Given the description of an element on the screen output the (x, y) to click on. 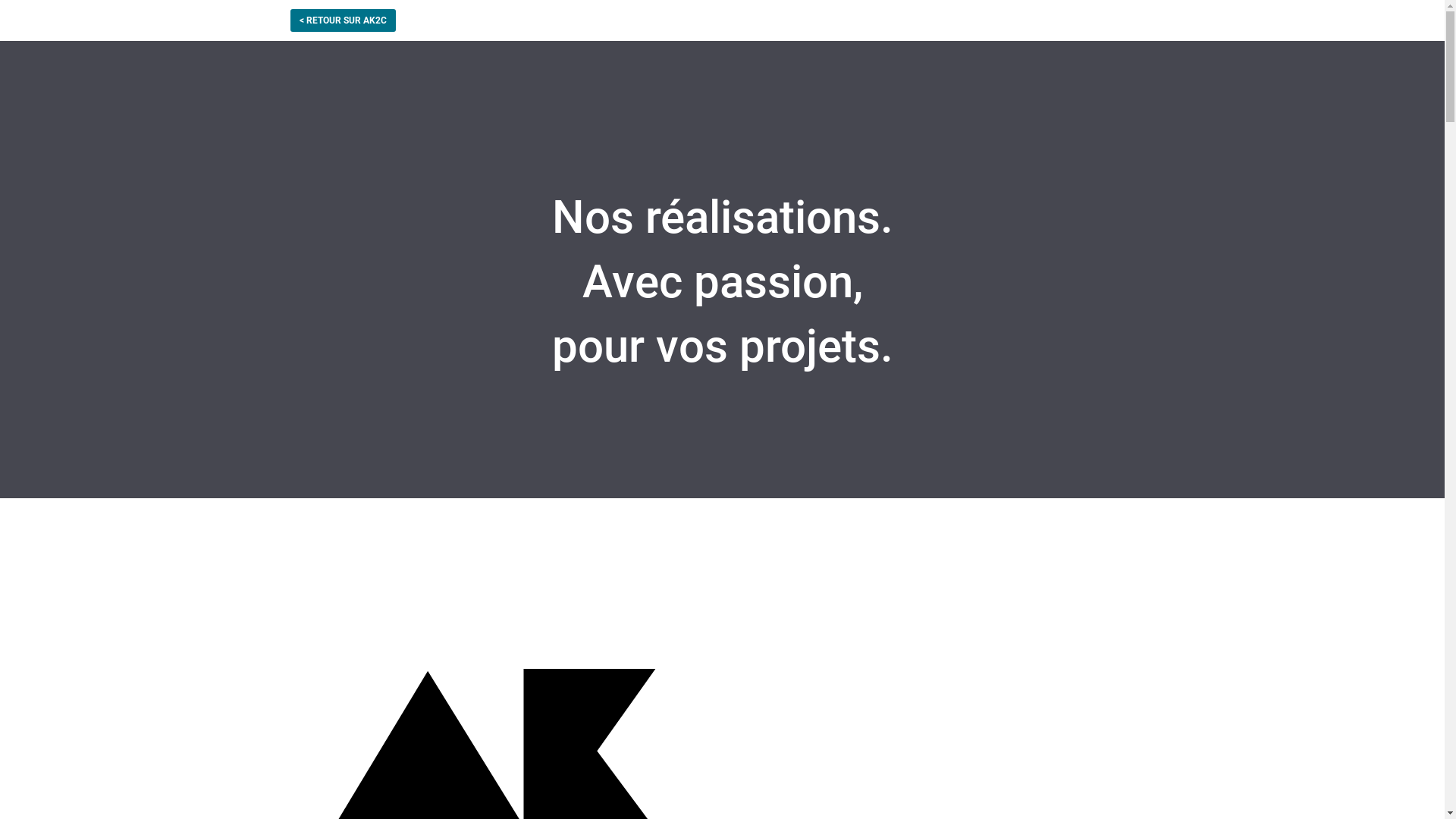
Aller au contenu Element type: text (15, 7)
< RETOUR SUR AK2C Element type: text (342, 20)
